Given the description of an element on the screen output the (x, y) to click on. 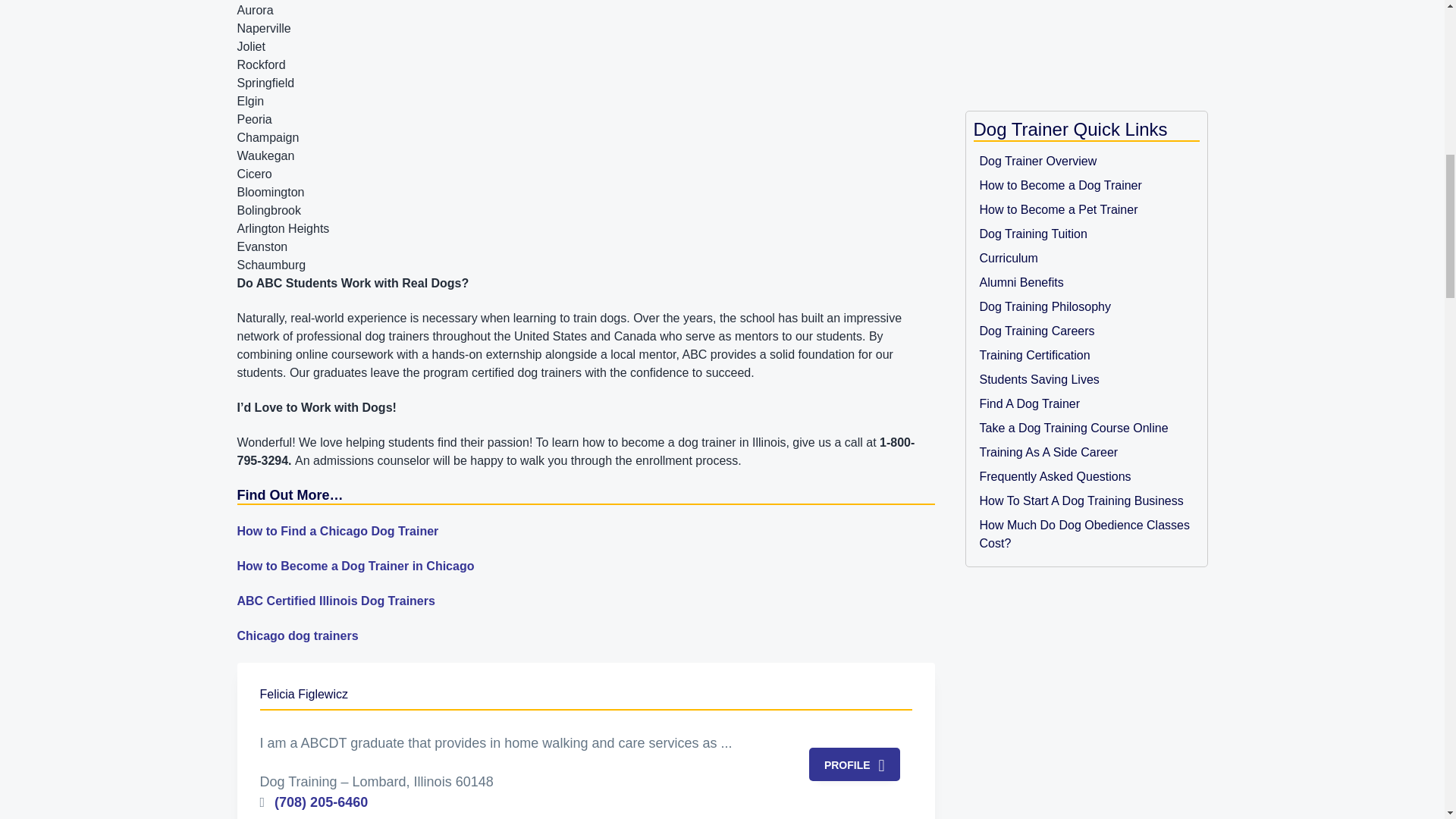
Start Your Dog Training Career Within 12 Months (1086, 331)
Become a Dog Trainer Online in 12 Months (1086, 161)
Dog Trainer Alumni Benefits (1086, 282)
Our Dog Training Philosophy (1086, 307)
Dog Trainer Certification (1086, 355)
Dog Trainer Courses Online (1086, 258)
